Given the description of an element on the screen output the (x, y) to click on. 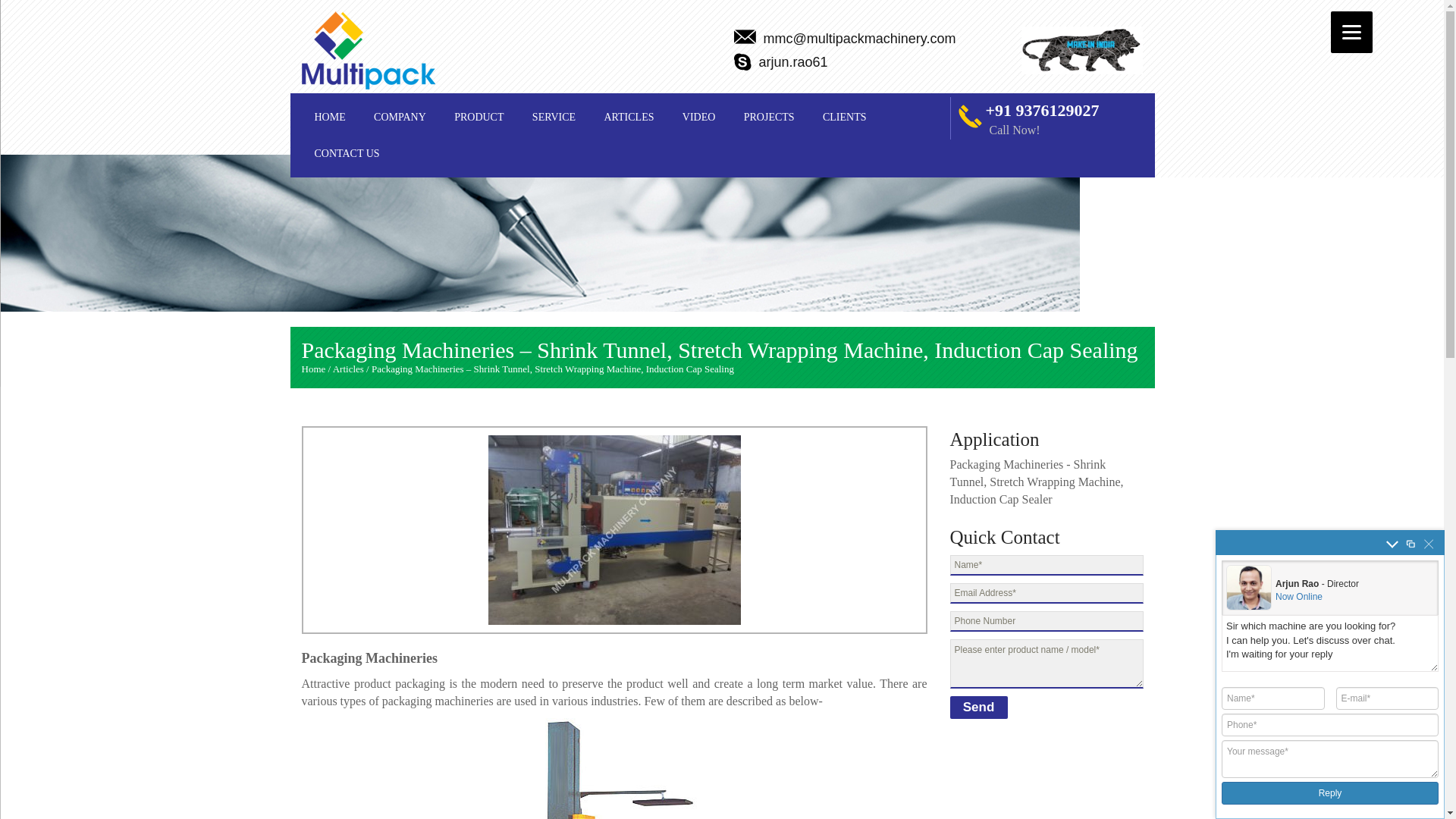
Open in a new window (1410, 543)
Open in a new window (1409, 543)
Home (313, 368)
PRODUCT (478, 116)
Go to Multipack. (313, 368)
PROJECTS (769, 116)
Toggle window (1392, 543)
Close (1428, 543)
CONTACT US (347, 152)
SERVICE (553, 116)
VIDEO (699, 116)
Articles (348, 368)
Send (978, 707)
